Given the description of an element on the screen output the (x, y) to click on. 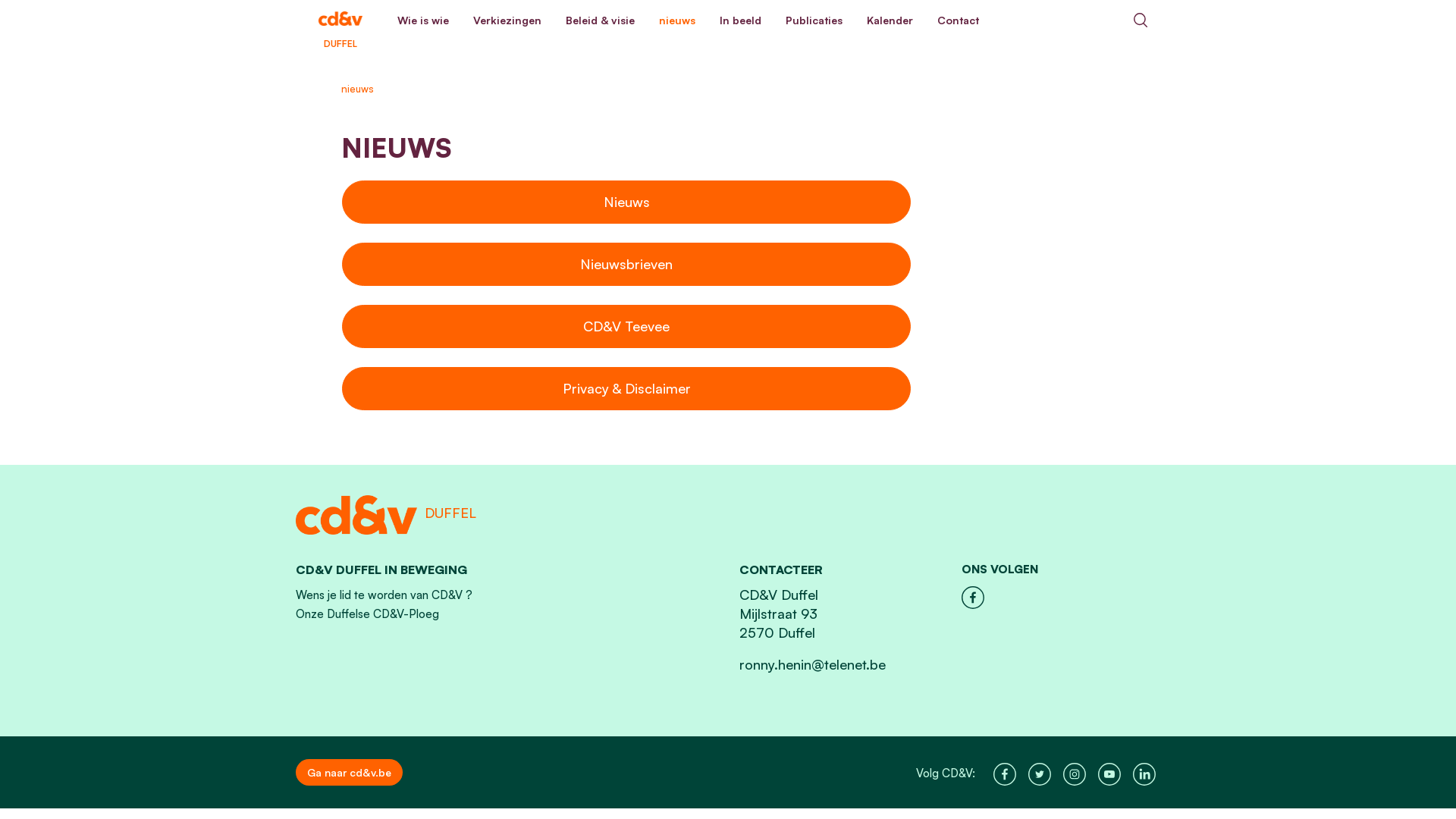
ronny.henin@telenet.be Element type: text (812, 663)
Wie is wie Element type: text (423, 20)
Contact Element type: text (958, 20)
nieuws Element type: text (676, 20)
In beeld Element type: text (740, 20)
Verkiezingen Element type: text (507, 20)
Onze Duffelse CD&V-Ploeg Element type: text (367, 613)
Kalender Element type: text (889, 20)
Beleid & visie Element type: text (599, 20)
Nieuwsbrieven Element type: text (626, 263)
Nieuws Element type: text (626, 201)
Wens je lid te worden van CD&V ? Element type: text (383, 594)
Ga naar cd&v.be Element type: text (348, 772)
Privacy & Disclaimer Element type: text (626, 388)
DUFFEL Element type: text (340, 19)
Search Element type: hover (1140, 19)
CD&V Teevee Element type: text (626, 326)
Publicaties Element type: text (813, 20)
